Given the description of an element on the screen output the (x, y) to click on. 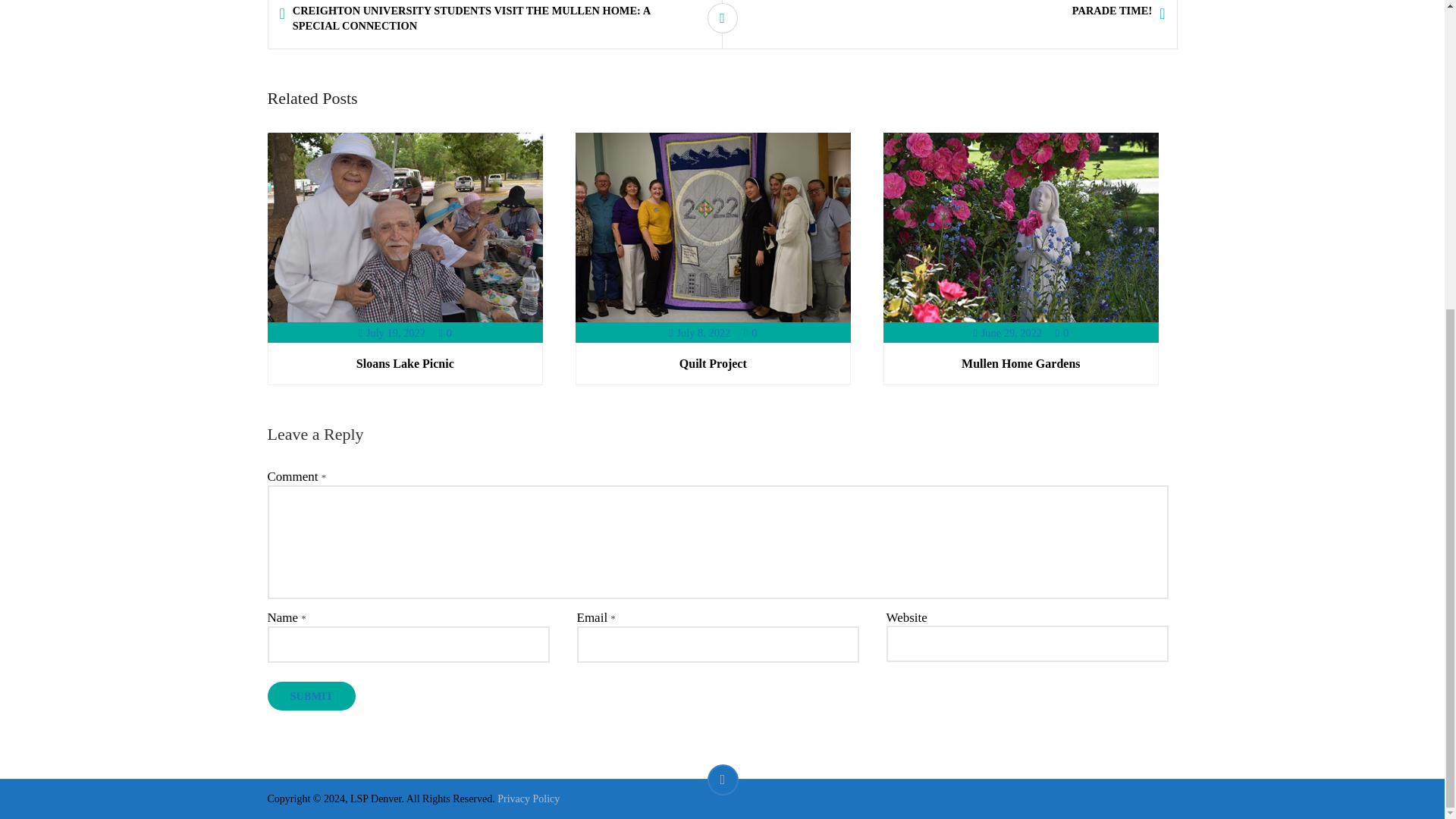
Sloans Lake Picnic (405, 363)
Privacy Policy (528, 798)
SUBMIT (310, 695)
SUBMIT (310, 695)
Quilt Project (712, 363)
PARADE TIME! (959, 10)
Mullen Home Gardens (1020, 363)
